Given the description of an element on the screen output the (x, y) to click on. 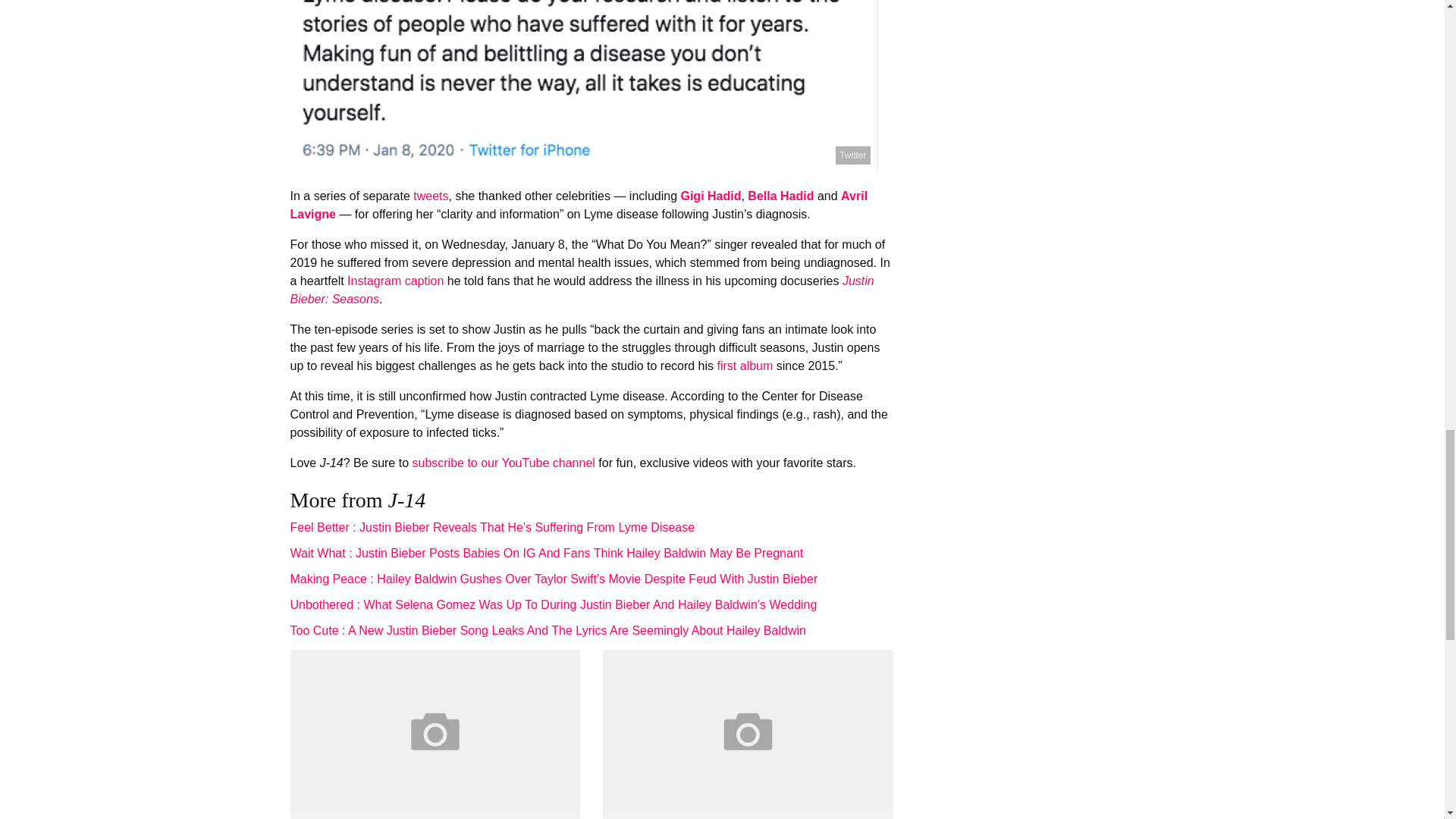
tweets (430, 195)
Bella Hadid (780, 195)
Justin Bieber: Seasons (581, 289)
Gigi Hadid (710, 195)
Instagram caption (395, 280)
subscribe to our YouTube channel (503, 462)
first album (745, 365)
